Given the description of an element on the screen output the (x, y) to click on. 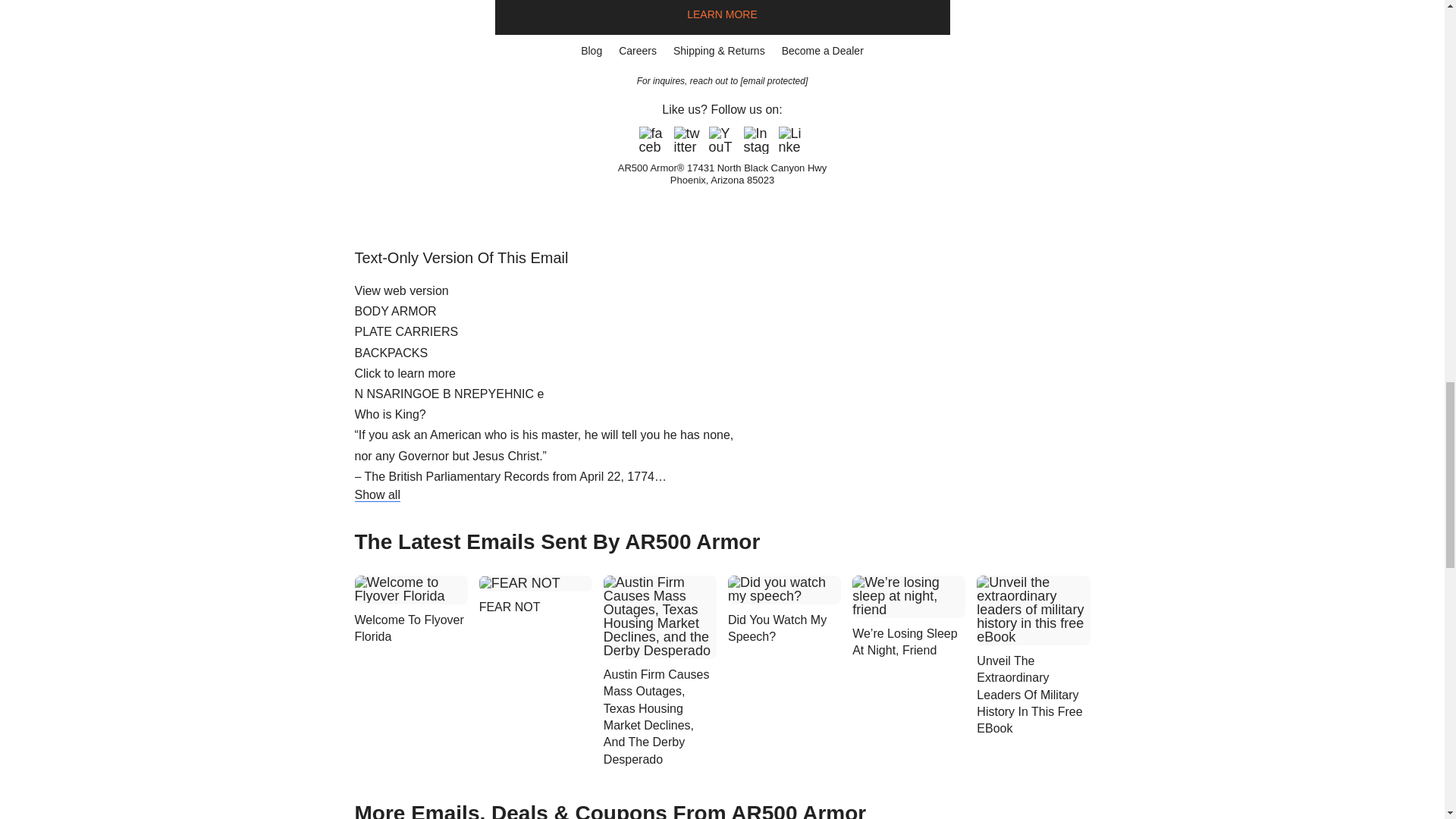
FEAR NOT (535, 606)
Welcome To Flyover Florida (411, 628)
Become a Dealer (822, 51)
LEARN MORE (722, 13)
Blog (591, 51)
Did You Watch My Speech? (784, 628)
Careers (637, 51)
